Given the description of an element on the screen output the (x, y) to click on. 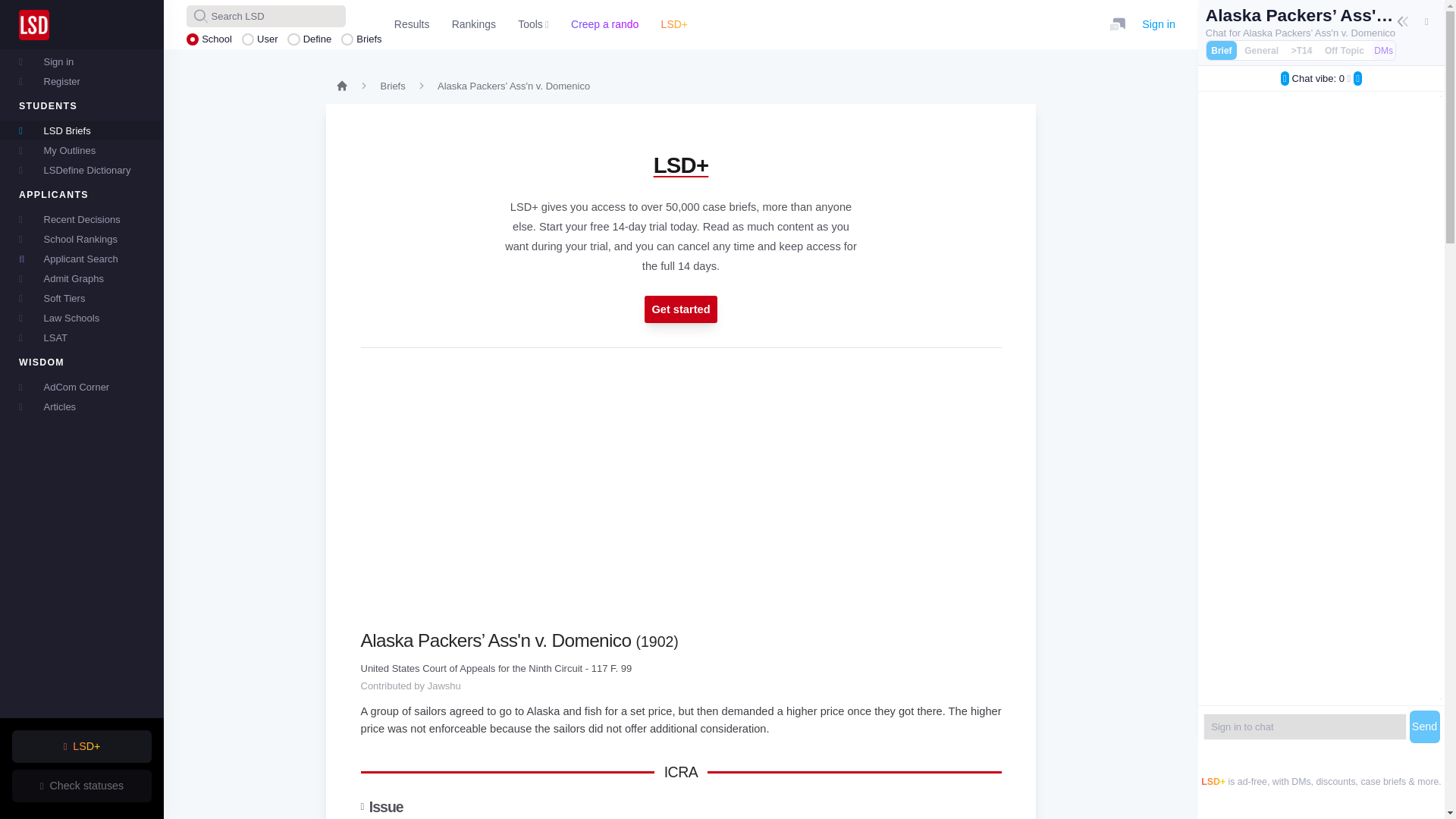
LSDefine Dictionary (81, 169)
Results (411, 24)
Soft Tiers (81, 297)
Rankings (473, 24)
Law Schools (81, 317)
on (1290, 45)
Creep a rando (603, 24)
on (247, 39)
AdCom Corner (81, 386)
LSD Briefs (81, 130)
Articles (81, 406)
Register (81, 80)
on (192, 39)
Check statuses (81, 785)
on (1324, 45)
